Given the description of an element on the screen output the (x, y) to click on. 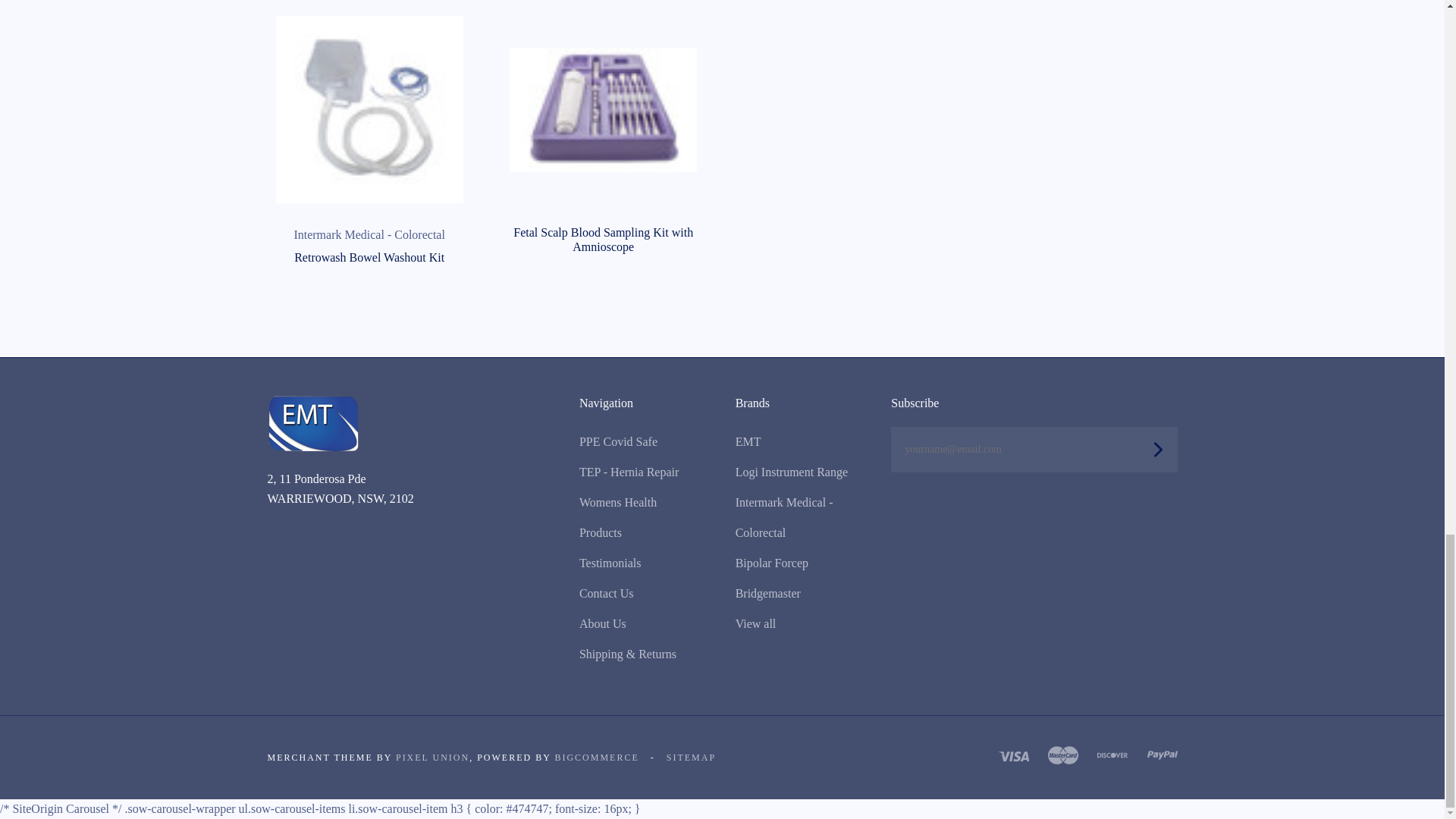
EMT Healthcare (312, 423)
Fetal Blood Sampling Kit with Amnioscope (603, 109)
Retrowash Bowel  Washout Kit (369, 109)
